Given the description of an element on the screen output the (x, y) to click on. 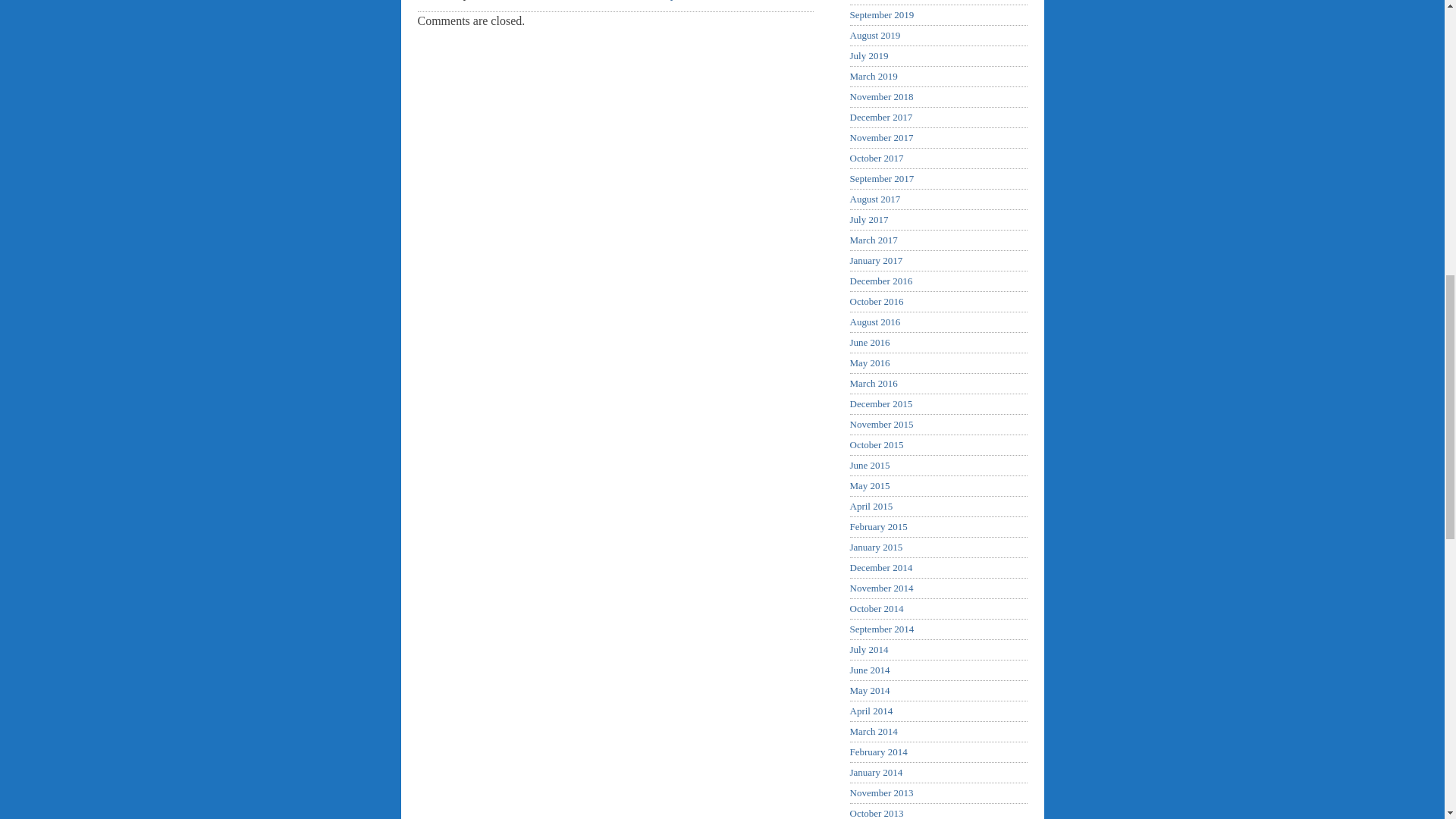
November 2018 (880, 96)
September 2019 (881, 14)
August 2019 (873, 34)
March 2019 (872, 75)
July 2019 (868, 55)
